Given the description of an element on the screen output the (x, y) to click on. 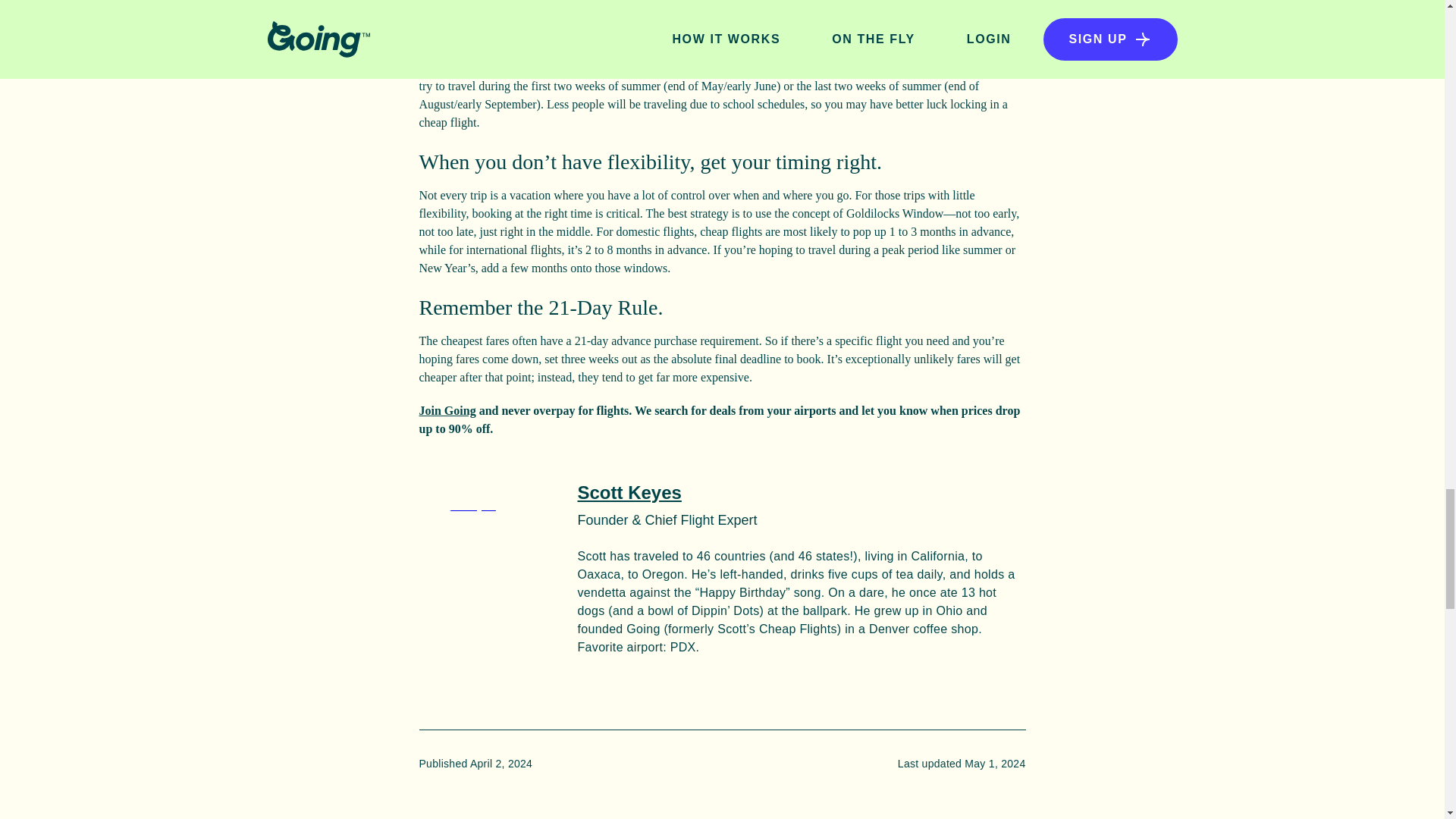
Scott Keyes (629, 492)
our app (549, 15)
Join Going (447, 410)
